Given the description of an element on the screen output the (x, y) to click on. 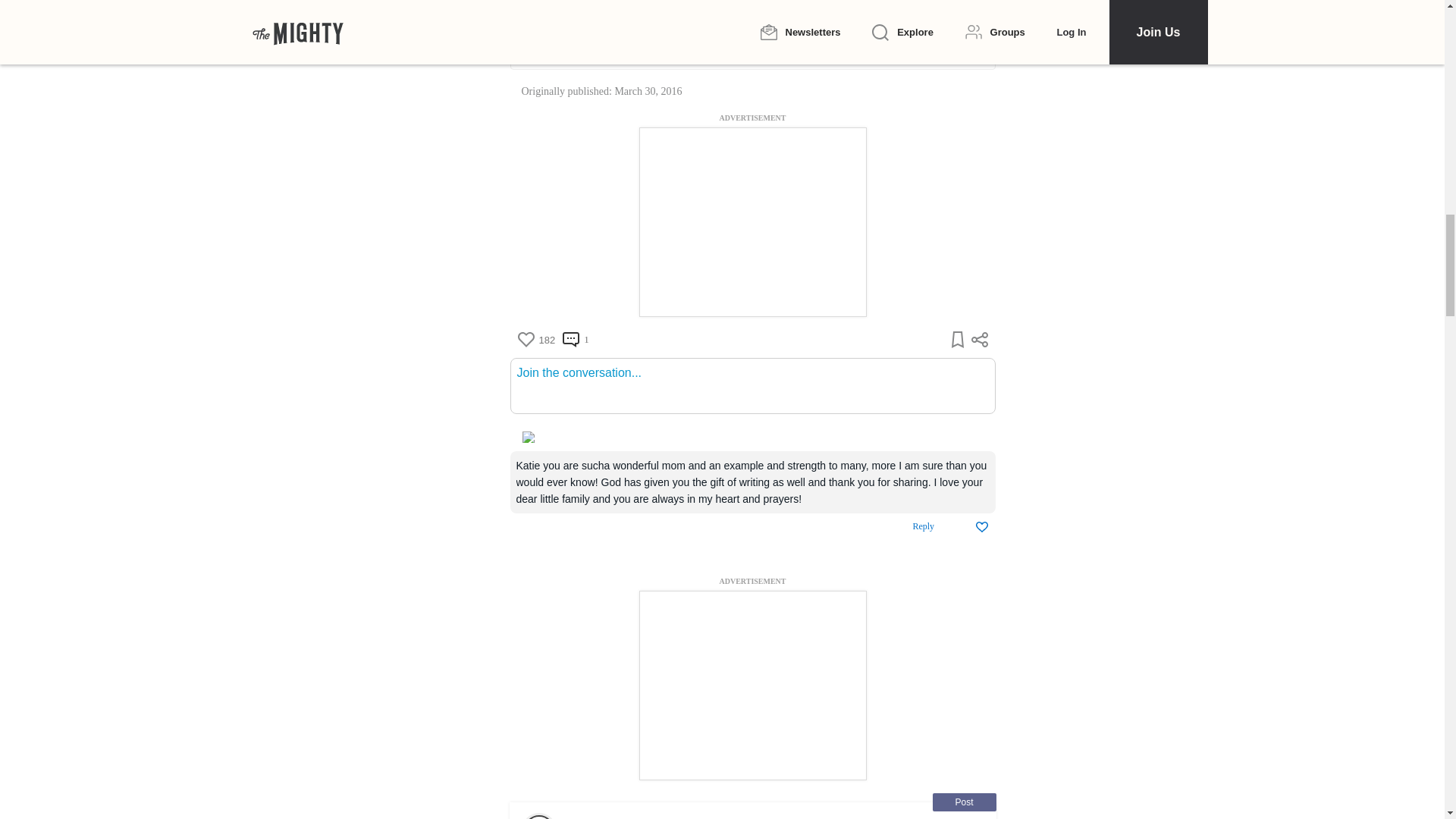
katie-rose-buckley (752, 50)
Visit tatiannaday12345's profile (537, 816)
182 (535, 339)
